Given the description of an element on the screen output the (x, y) to click on. 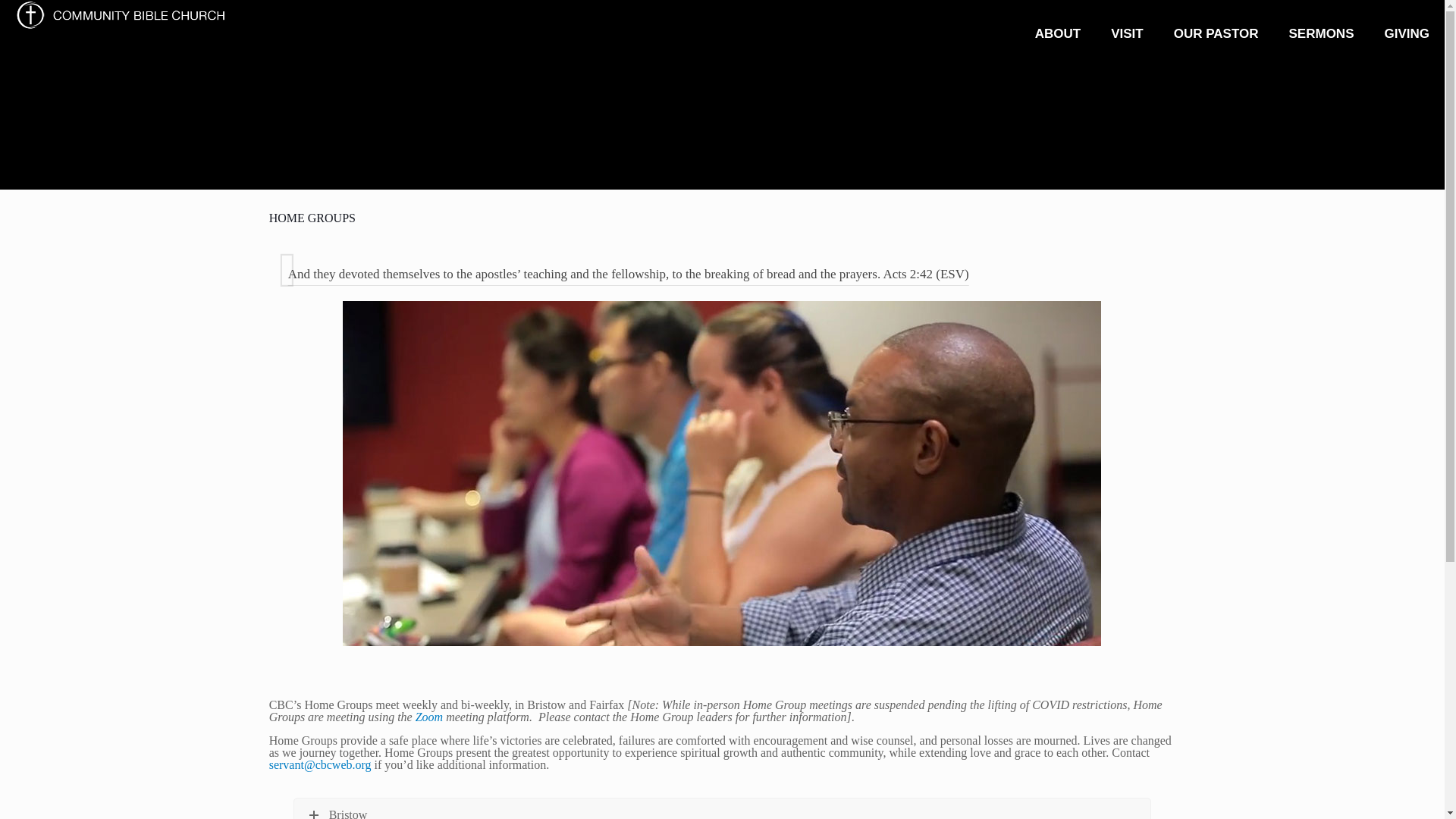
SERMONS (1322, 33)
VISIT (1127, 33)
OUR PASTOR (1216, 33)
Bristow (722, 808)
ABOUT (1058, 33)
Zoom (428, 716)
